Given the description of an element on the screen output the (x, y) to click on. 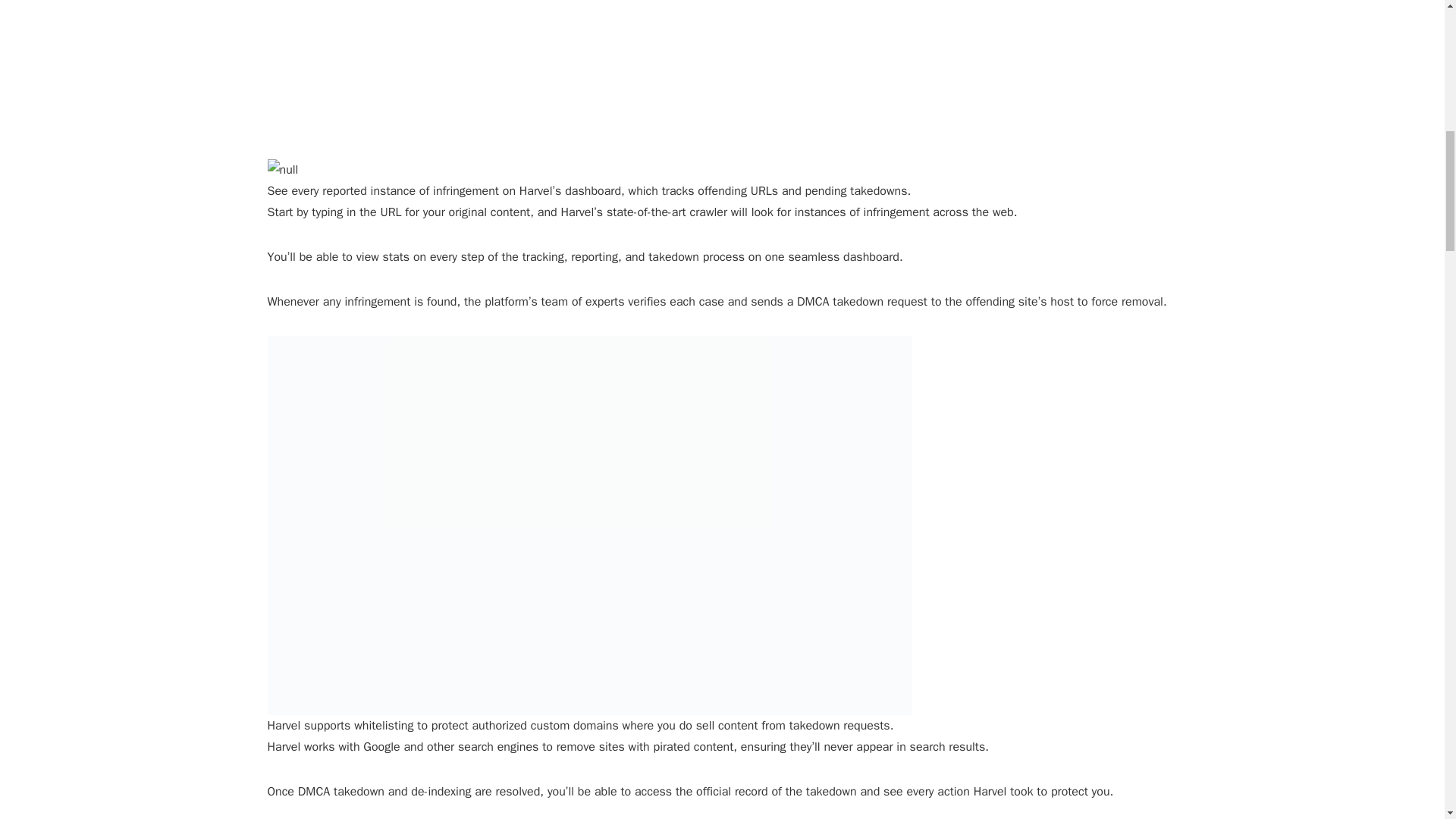
Automate your Copyright Protection with Harvel.io (585, 64)
